Given the description of an element on the screen output the (x, y) to click on. 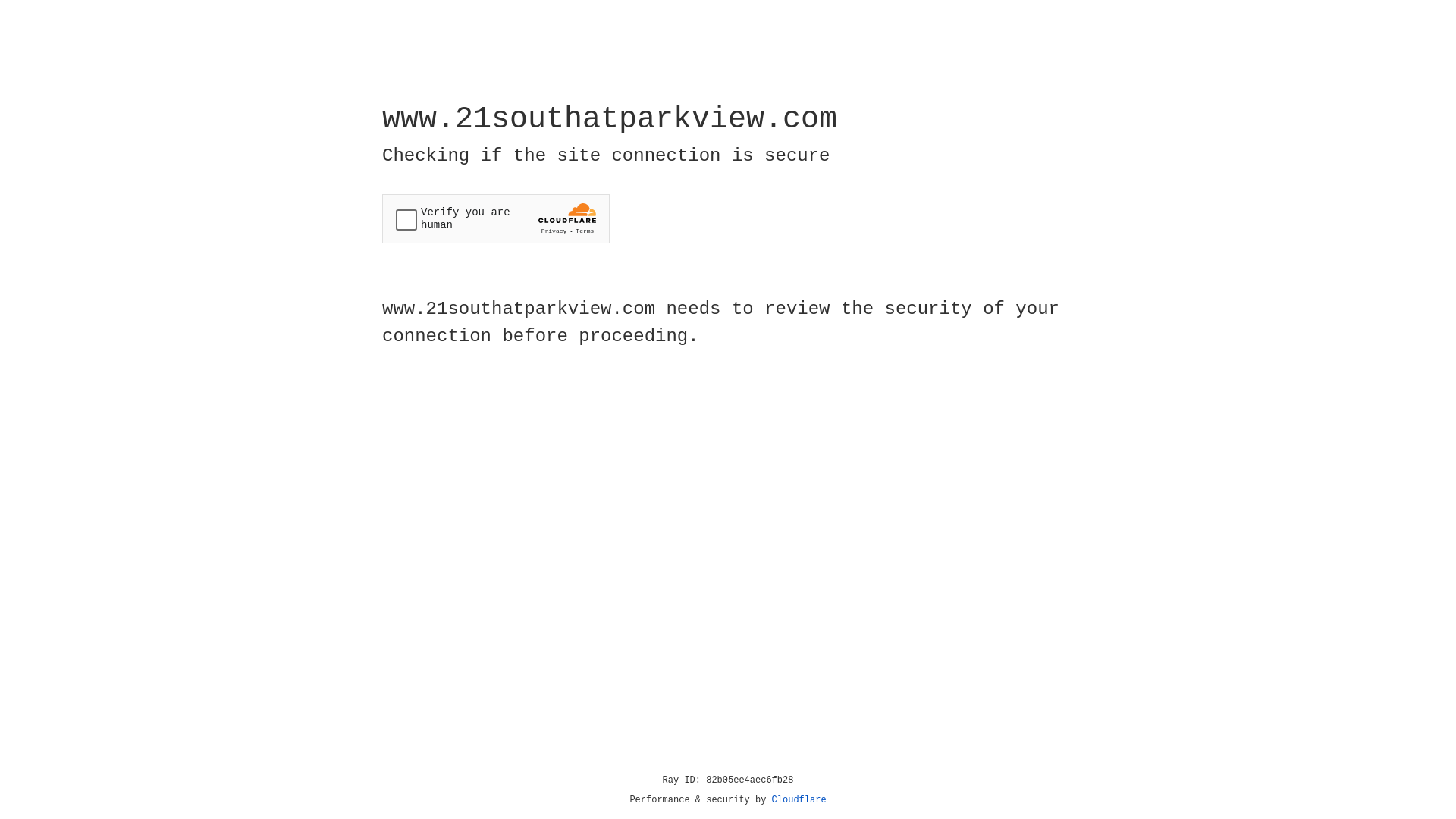
Cloudflare Element type: text (798, 799)
Widget containing a Cloudflare security challenge Element type: hover (495, 218)
